Given the description of an element on the screen output the (x, y) to click on. 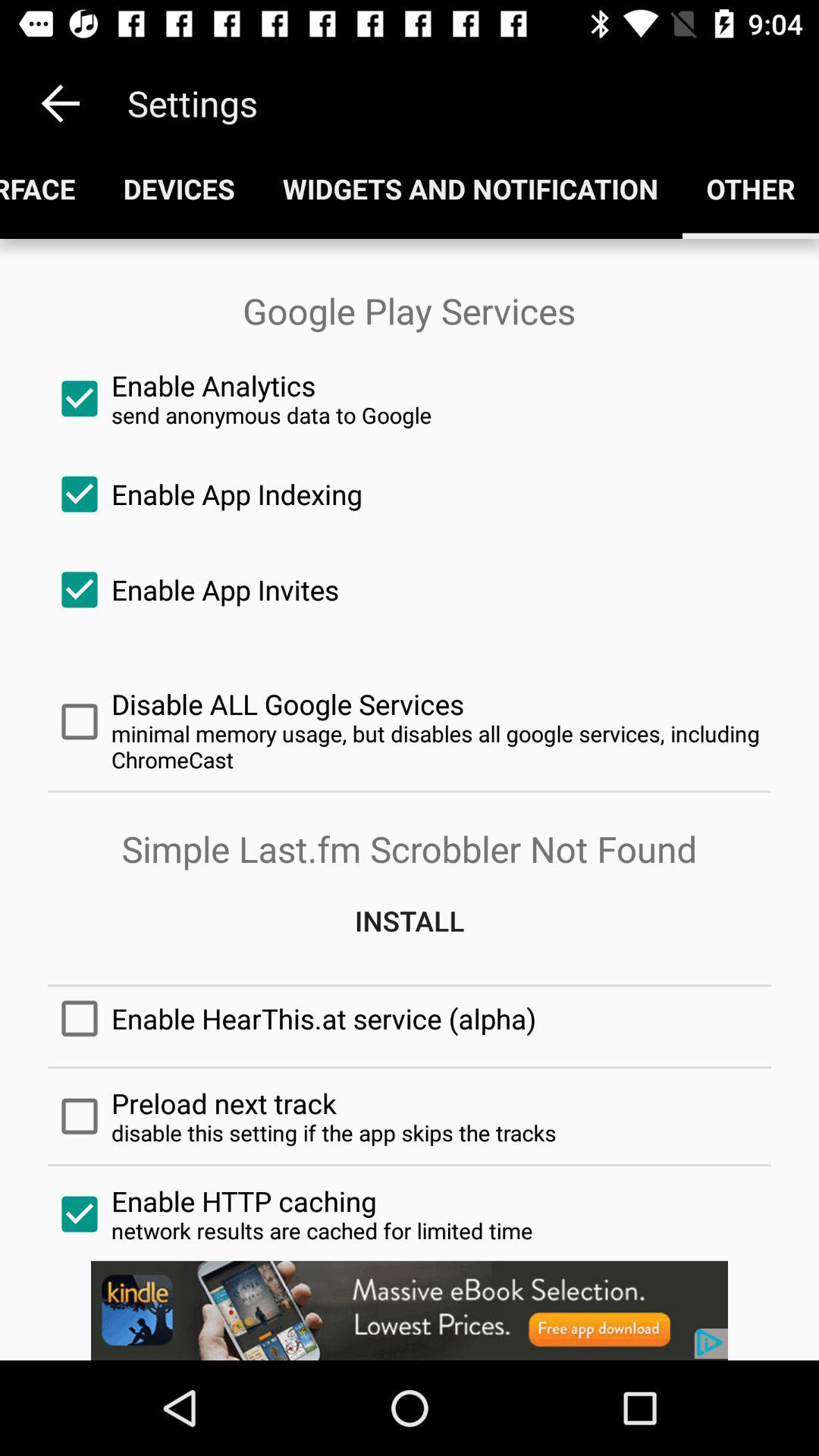
banner advertisement (409, 1310)
